Given the description of an element on the screen output the (x, y) to click on. 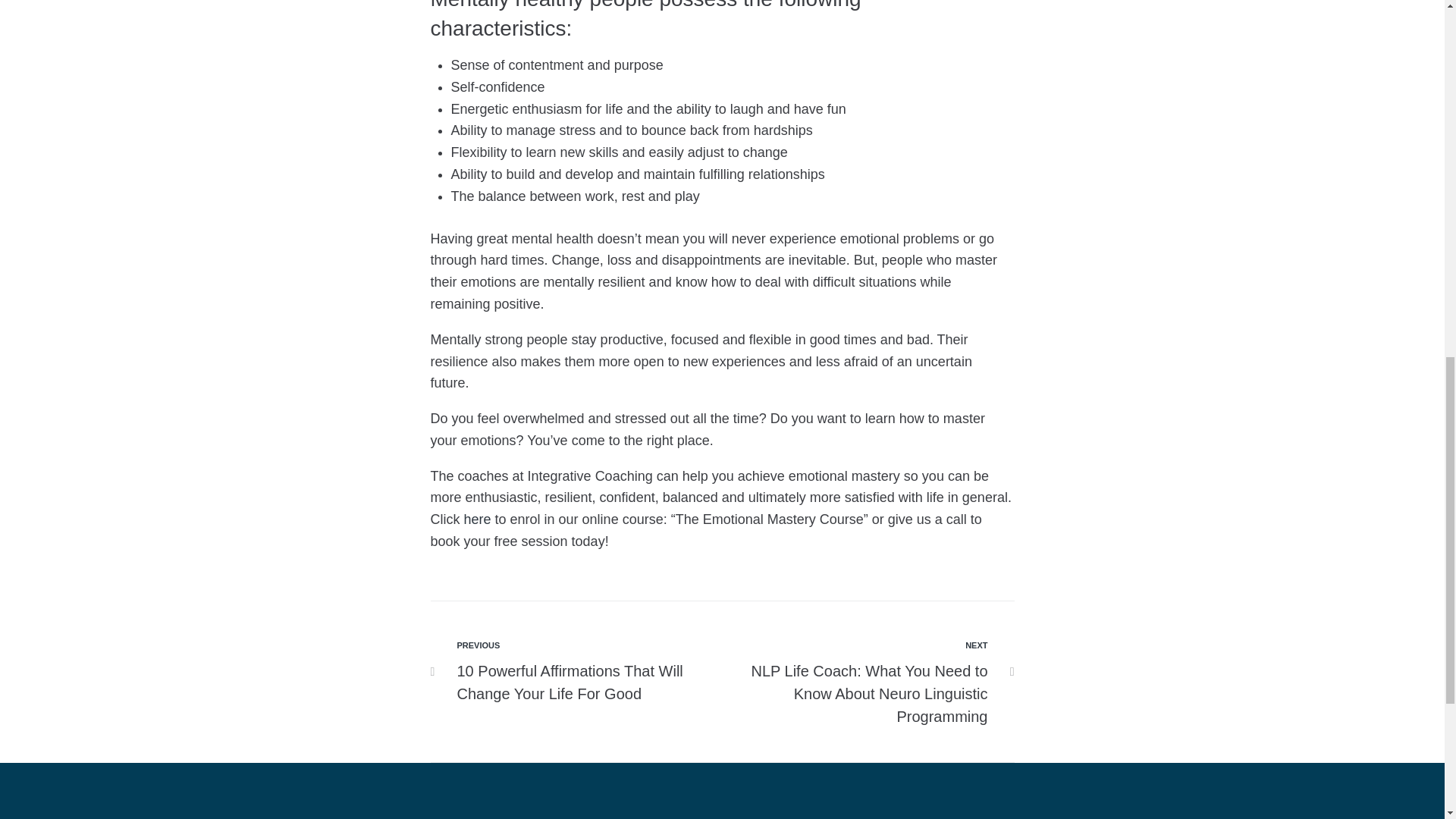
here (478, 519)
